Given the description of an element on the screen output the (x, y) to click on. 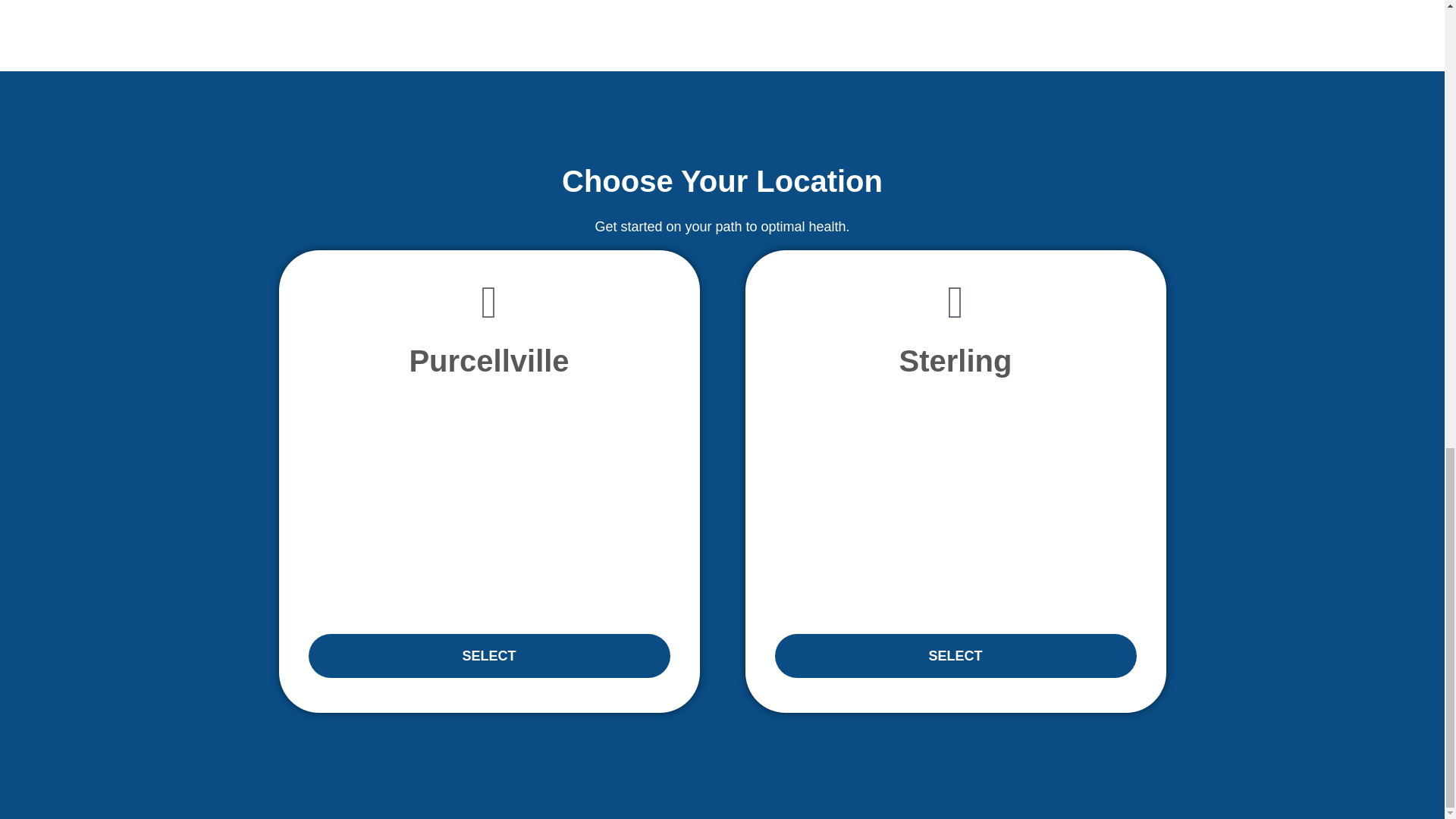
Sterling (955, 360)
22149 Davis Dr Suite 135, Sterling, VA 20164, USA (955, 507)
SELECT (955, 655)
SELECT (488, 655)
Purcellville (489, 360)
631 W Main St, Purcellville, VA 20132, United States (488, 507)
